Given the description of an element on the screen output the (x, y) to click on. 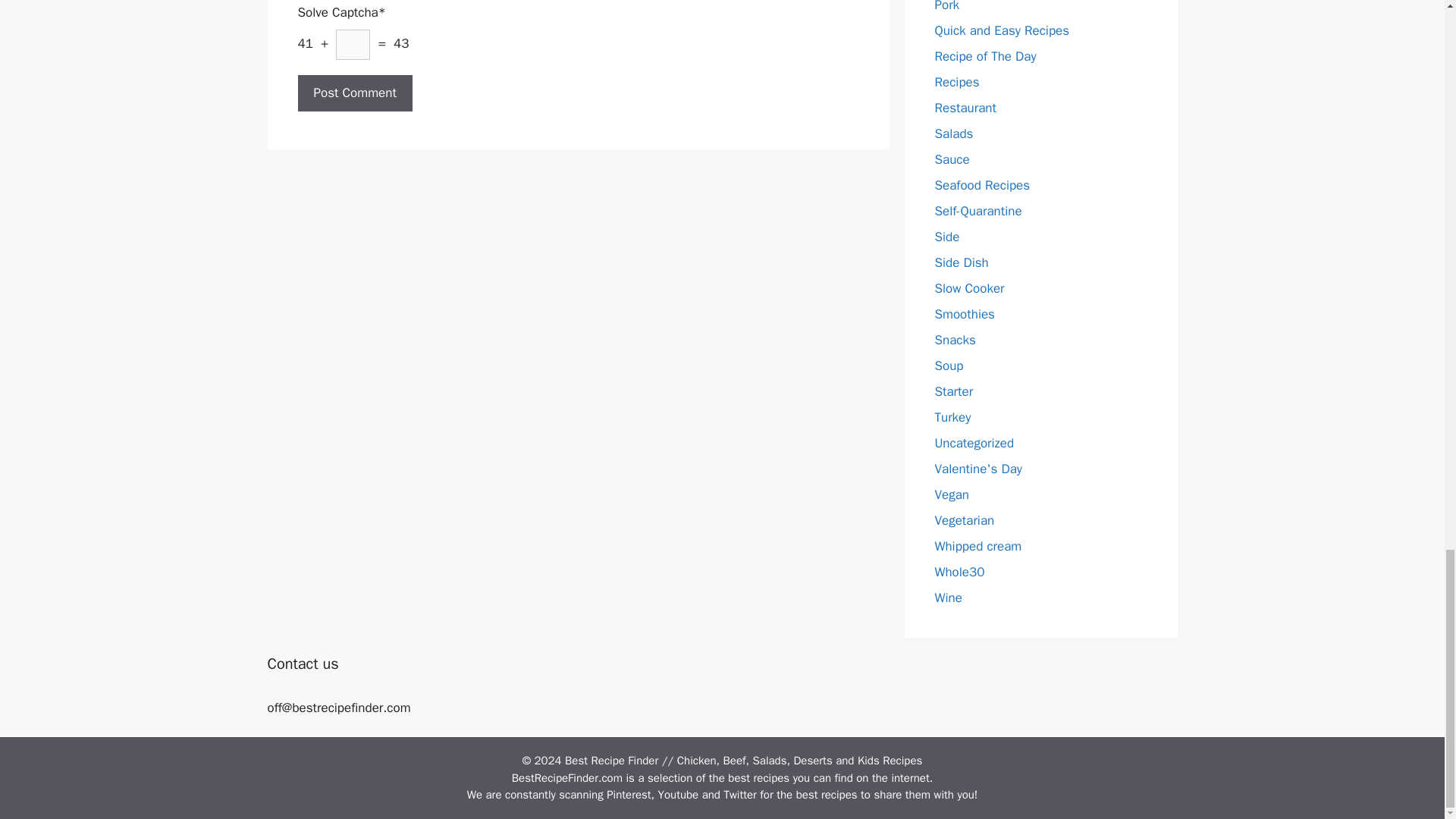
Post Comment (354, 93)
Post Comment (354, 93)
